Given the description of an element on the screen output the (x, y) to click on. 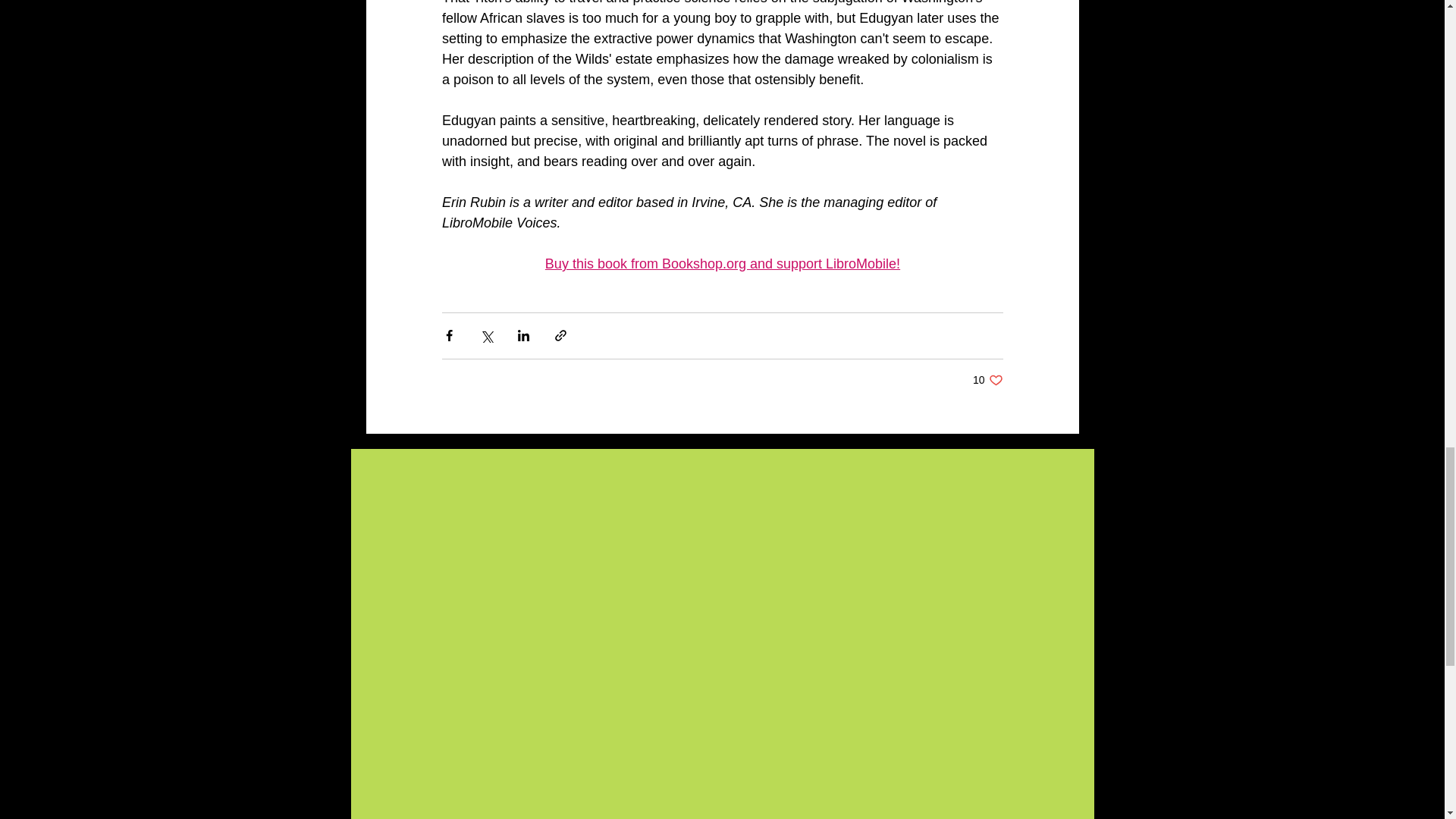
Buy this book from Bookshop.org and support LibroMobile! (987, 380)
